Given the description of an element on the screen output the (x, y) to click on. 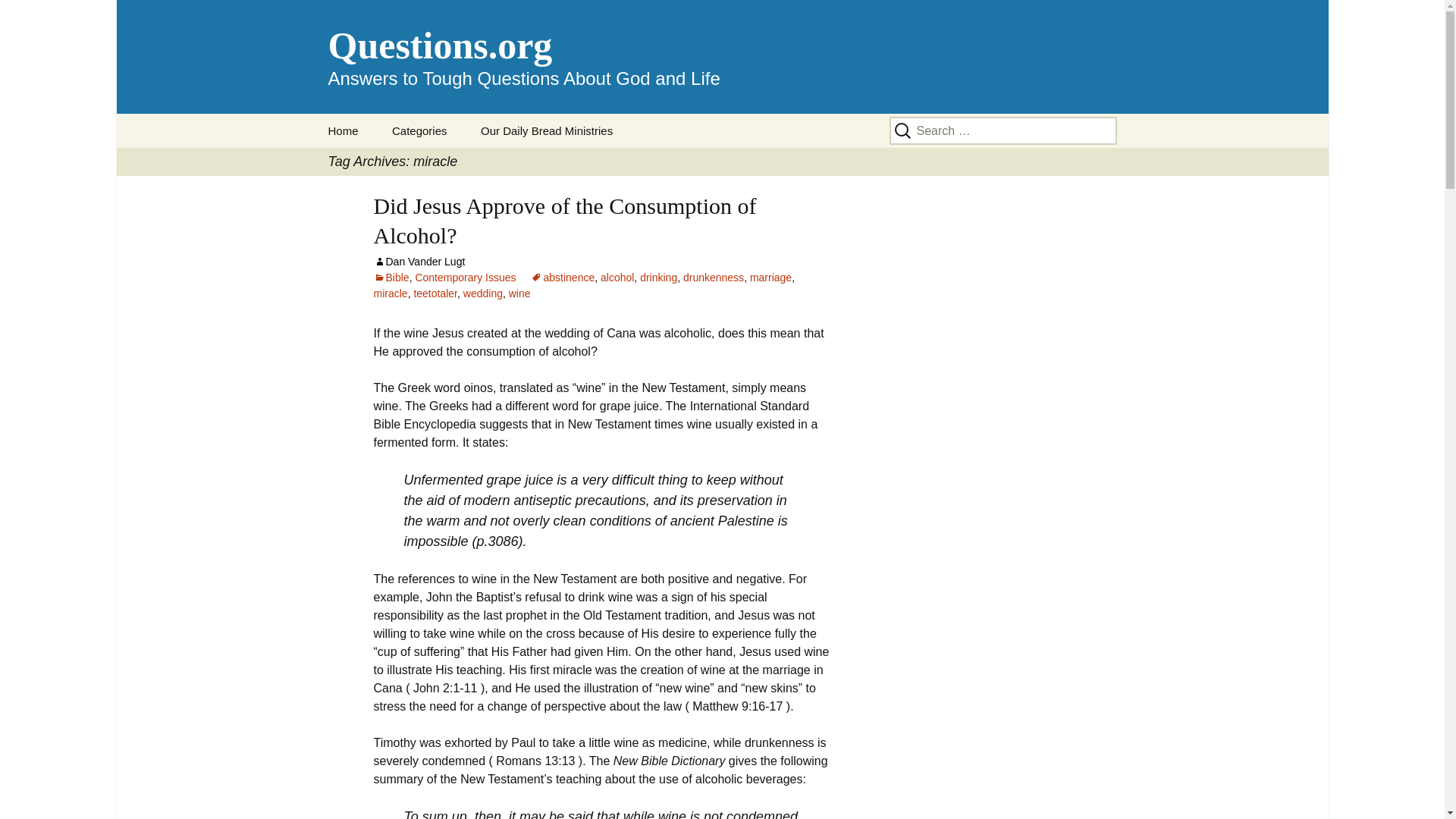
Questions.org (722, 56)
Contemporary Issues (464, 277)
teetotaler (435, 293)
wine (519, 293)
Bible (390, 277)
Basics Of Faith (452, 164)
miracle (389, 293)
marriage (770, 277)
Dan Vander Lugt (722, 56)
